Given the description of an element on the screen output the (x, y) to click on. 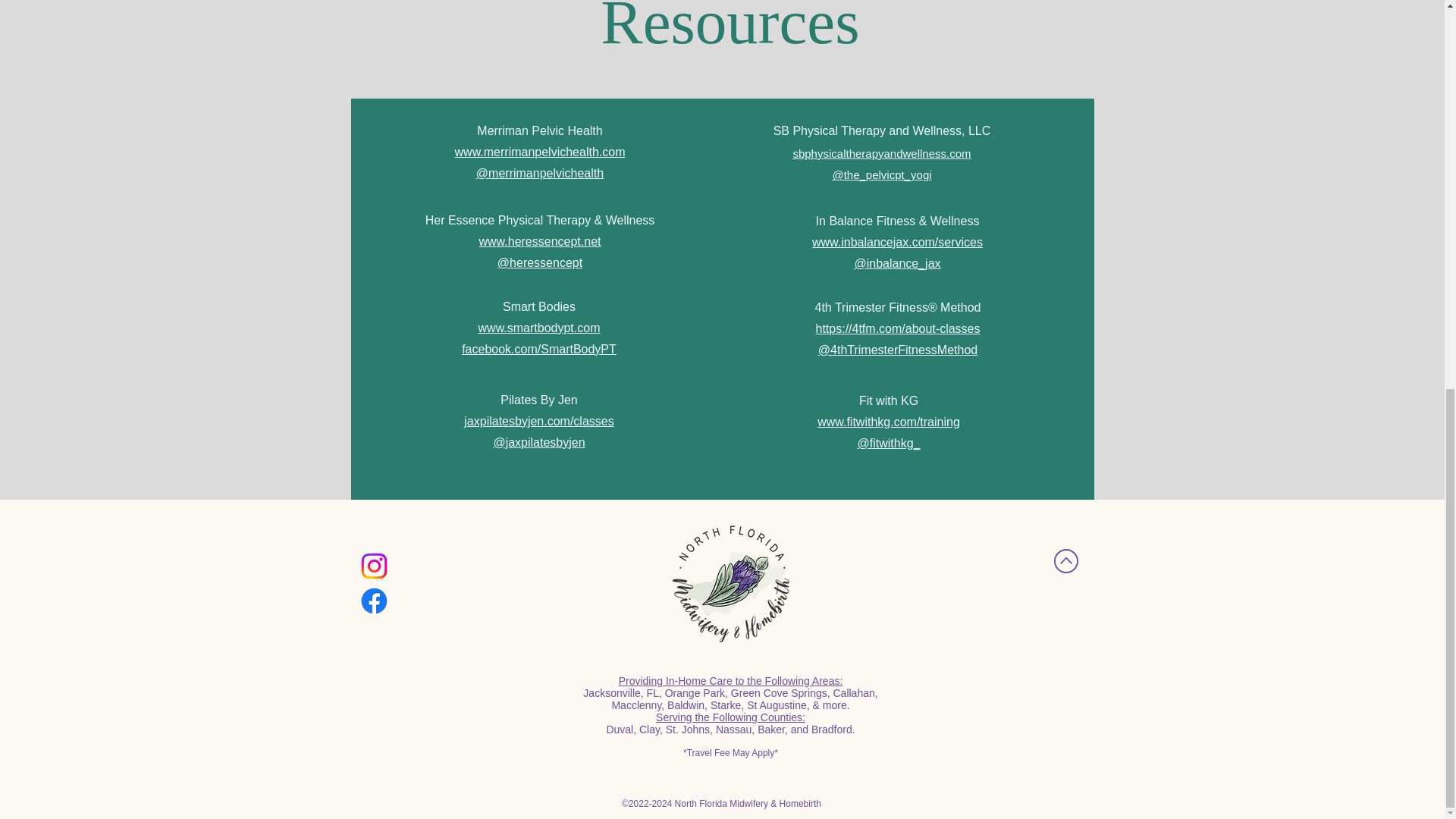
sbphysicaltherapyandwellness.com (881, 153)
logo-04.png (730, 584)
www.smartbodypt.com (539, 327)
www.heressencept.net (540, 241)
www.merrimanpelvichealth.com (540, 151)
